Given the description of an element on the screen output the (x, y) to click on. 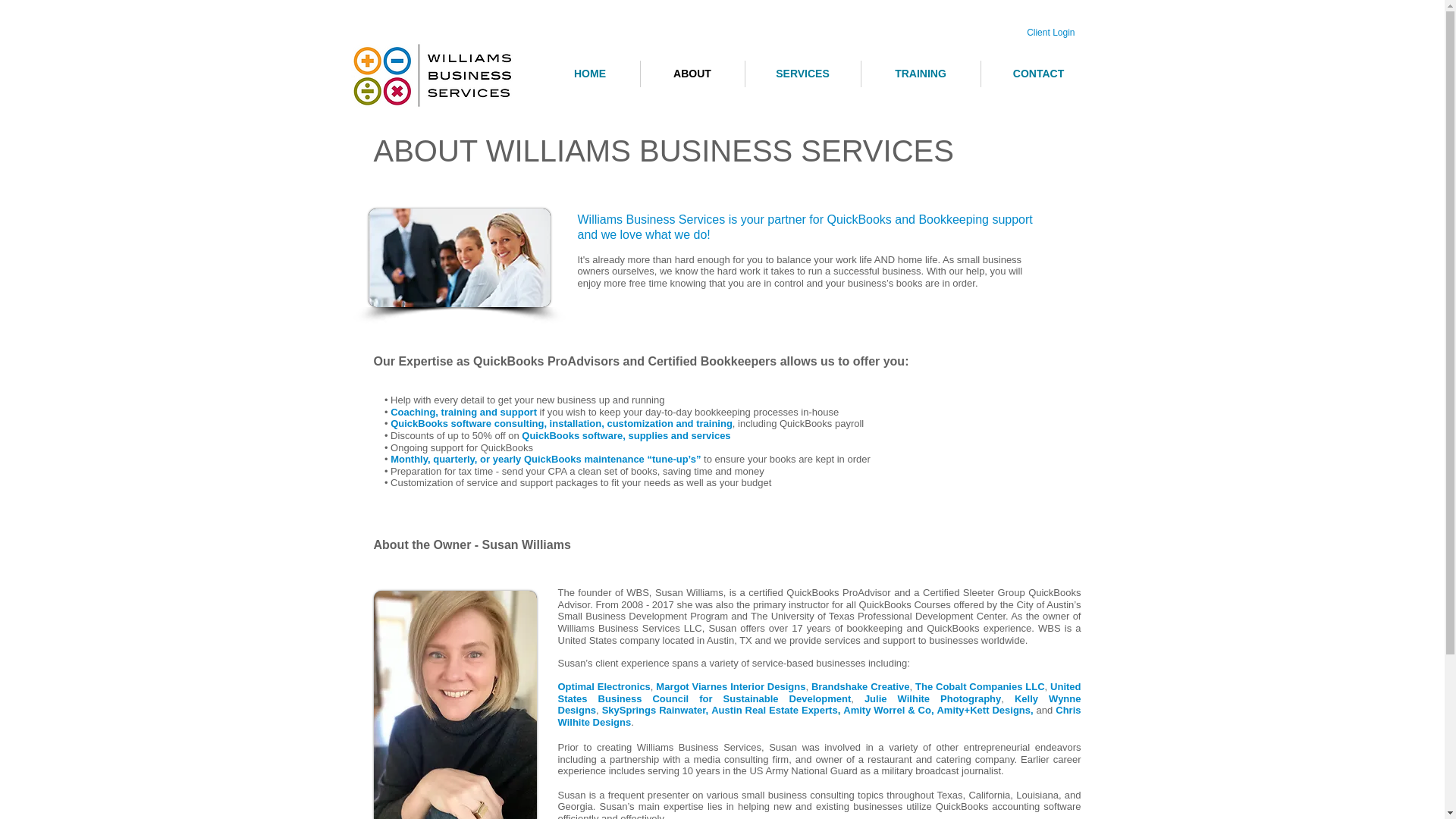
CONTACT (1038, 73)
The Cobalt Companies LLC (980, 686)
Margot Viarnes Interior Designs (730, 686)
HOME (589, 73)
Austin Real Estate Experts (774, 709)
Susan Williams - Owner of Williams Business Services LLC (453, 704)
United States Business Council for Sustainable Development (819, 692)
Kelly Wynne Designs (819, 704)
Optimal Electronics (603, 686)
ABOUT (692, 73)
Williams Business Services LLC (440, 75)
Client Login (1050, 32)
Coaching, training and support (463, 411)
Chris Wilhite Designs (819, 716)
